Given the description of an element on the screen output the (x, y) to click on. 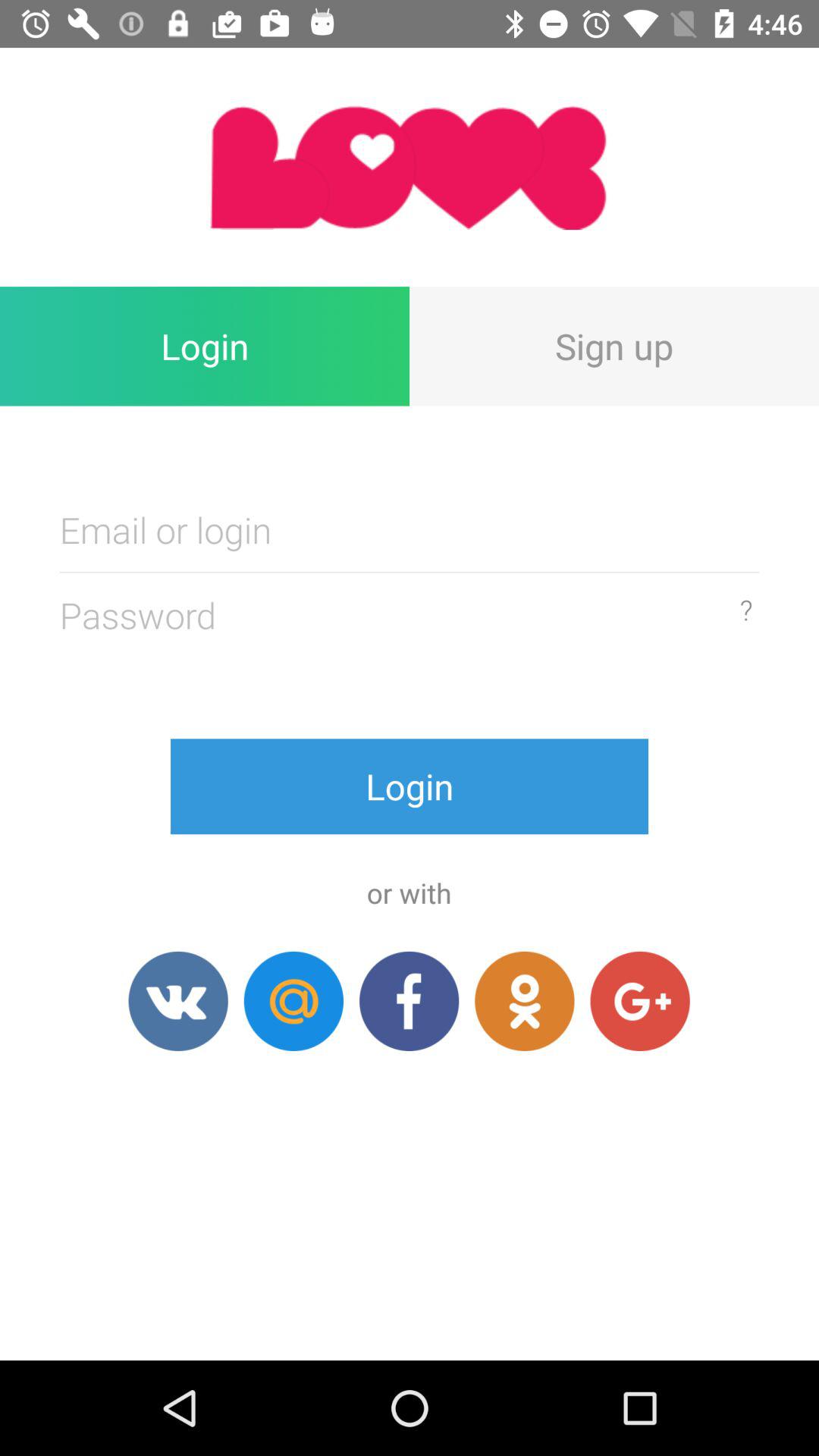
enter email or login (409, 529)
